Given the description of an element on the screen output the (x, y) to click on. 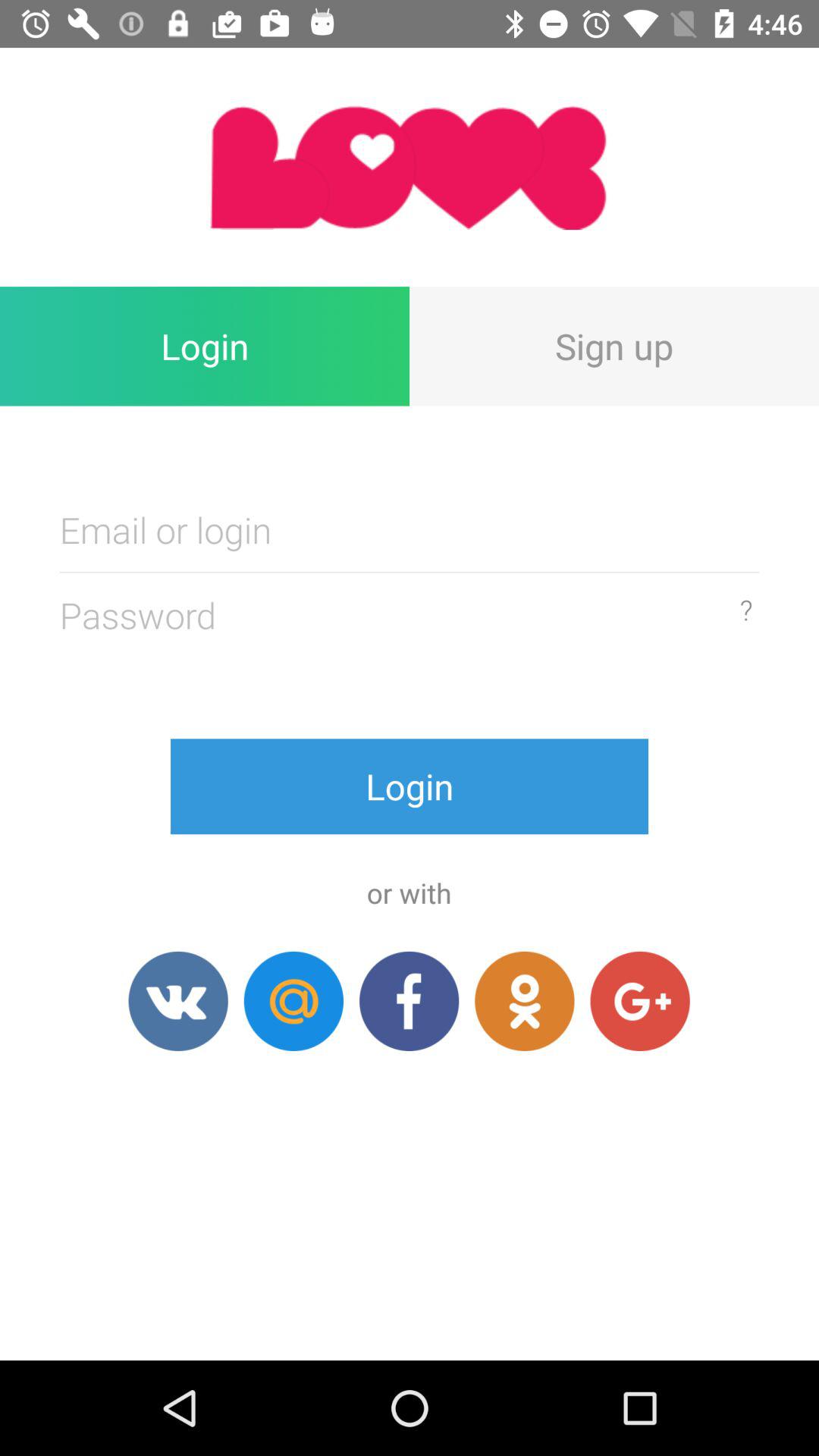
enter email or login (409, 529)
